Given the description of an element on the screen output the (x, y) to click on. 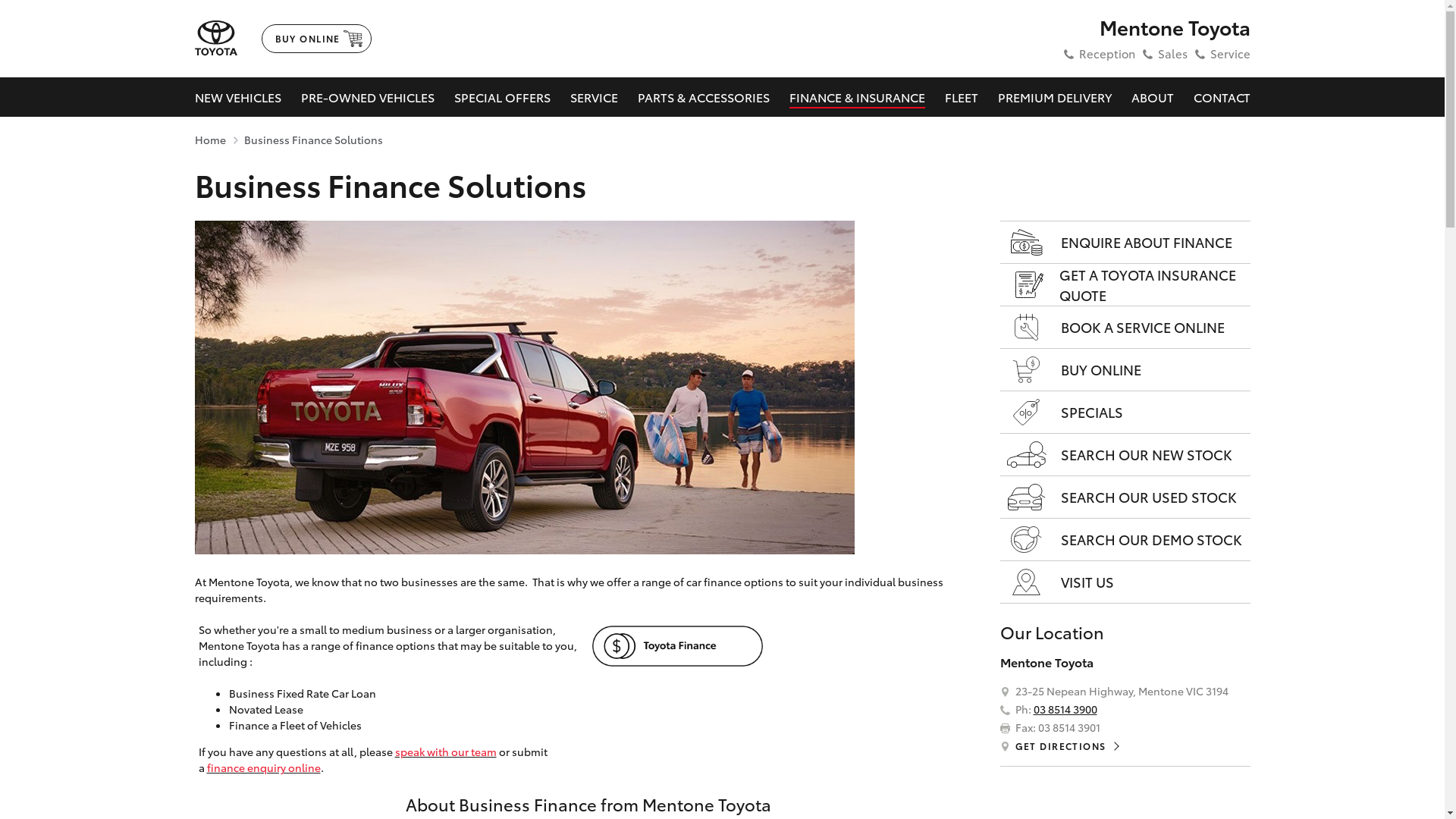
Reception Element type: text (1106, 52)
finance enquiry online Element type: text (263, 767)
BOOK A SERVICE ONLINE Element type: text (1124, 327)
SPECIALS Element type: text (1124, 412)
Business Finance Solutions Element type: text (313, 139)
Sales Element type: text (1171, 52)
03 8514 3900 Element type: text (1064, 708)
Mentone Toyota Element type: text (1152, 26)
VISIT US Element type: text (1124, 581)
SEARCH OUR USED STOCK Element type: text (1124, 497)
FINANCE & INSURANCE Element type: text (856, 96)
GET DIRECTIONS Element type: text (1065, 746)
SEARCH OUR NEW STOCK Element type: text (1124, 454)
SEARCH OUR DEMO STOCK Element type: text (1124, 539)
Home Element type: text (209, 139)
PRE-OWNED VEHICLES Element type: text (366, 96)
SPECIAL OFFERS Element type: text (501, 96)
ENQUIRE ABOUT FINANCE Element type: text (1124, 242)
CONTACT Element type: text (1221, 96)
PARTS & ACCESSORIES Element type: text (702, 96)
GET A TOYOTA INSURANCE QUOTE Element type: text (1124, 284)
ABOUT Element type: text (1152, 96)
FLEET Element type: text (961, 96)
SERVICE Element type: text (594, 96)
Service Element type: text (1230, 52)
NEW VEHICLES Element type: text (237, 96)
PREMIUM DELIVERY Element type: text (1054, 96)
BUY ONLINE Element type: text (1124, 369)
BUY ONLINE Element type: text (315, 38)
speak with our team Element type: text (444, 751)
